Given the description of an element on the screen output the (x, y) to click on. 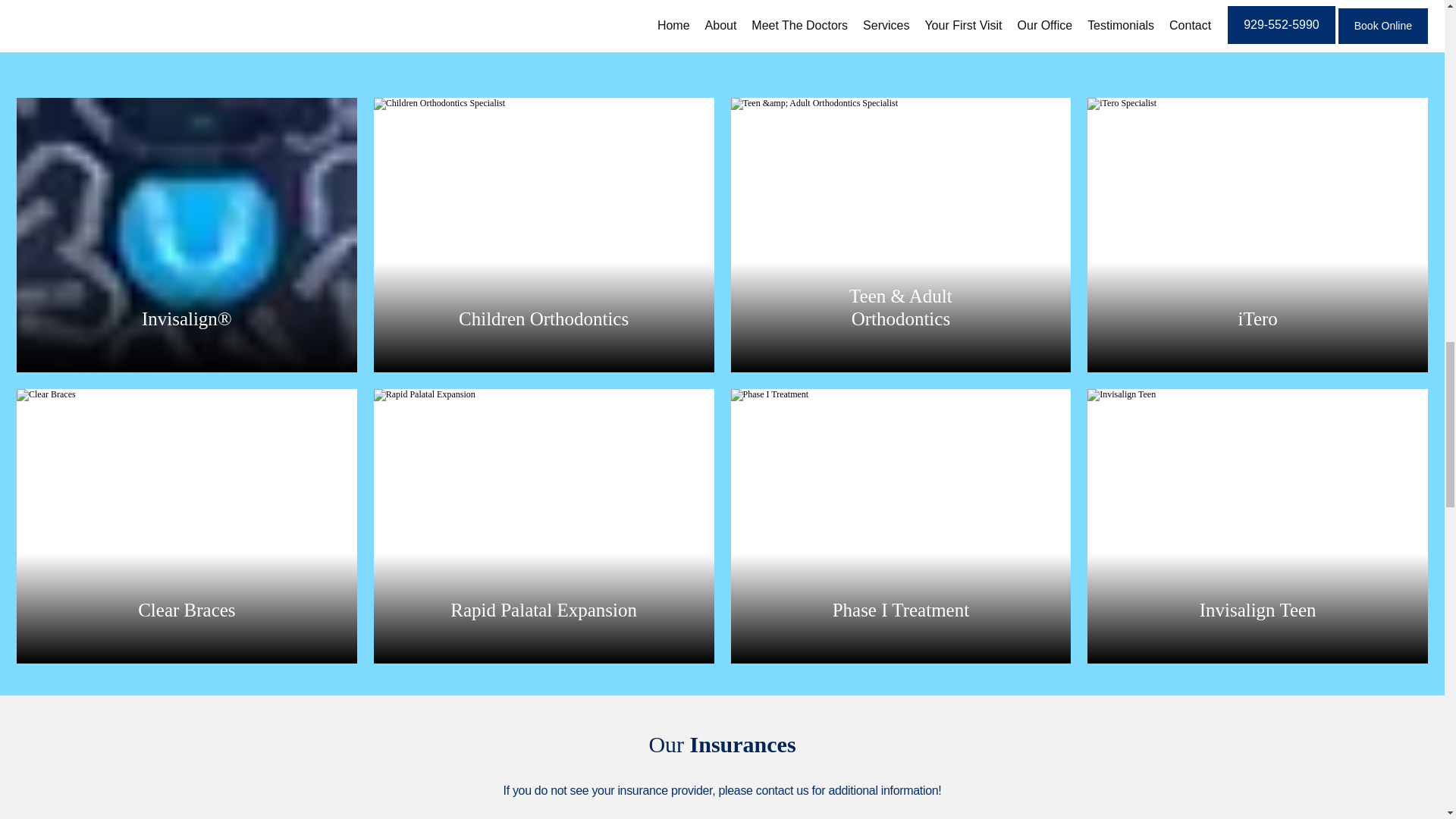
Children Orthodontics (543, 319)
Clear Braces (186, 610)
iTero (1257, 319)
